Given the description of an element on the screen output the (x, y) to click on. 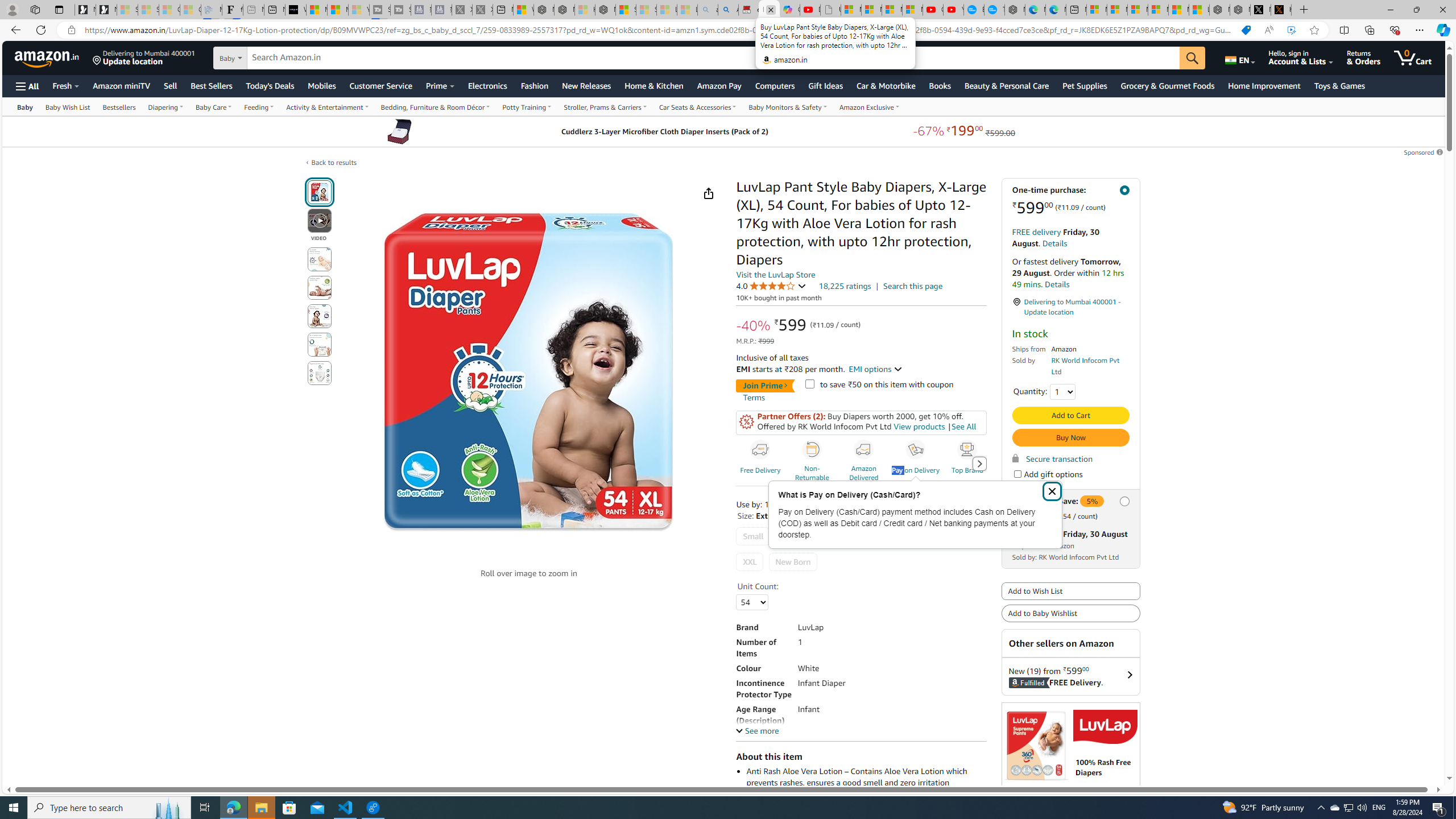
Nordace (@NordaceOfficial) / X (1259, 9)
X - Sleeping (482, 9)
The most popular Google 'how to' searches (994, 9)
You have the best price! Shopping in Microsoft Edge (1245, 29)
Newsletter Sign Up (106, 9)
Microsoft account | Microsoft Account Privacy Settings (1117, 9)
